Given the description of an element on the screen output the (x, y) to click on. 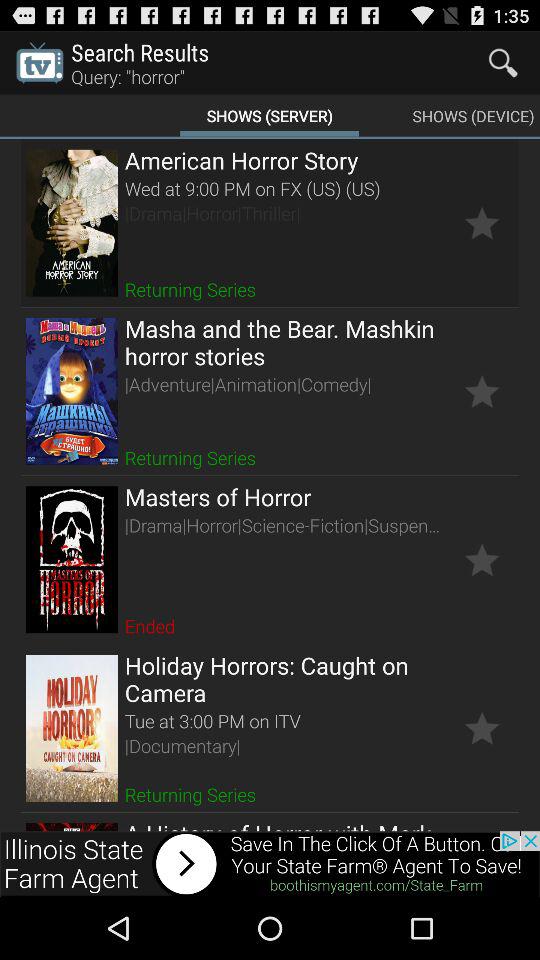
favorite option (481, 222)
